Given the description of an element on the screen output the (x, y) to click on. 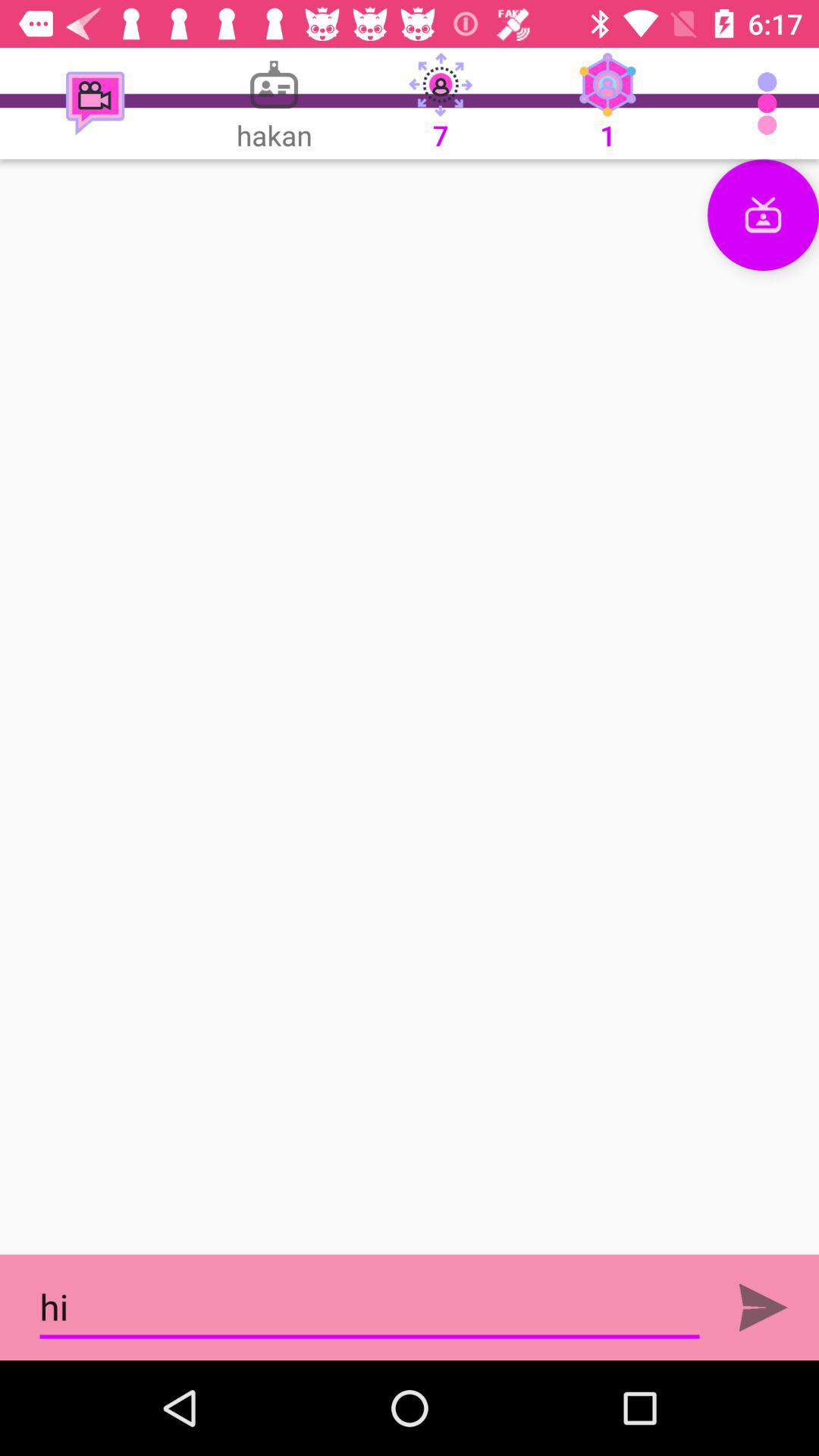
message share (763, 1307)
